Given the description of an element on the screen output the (x, y) to click on. 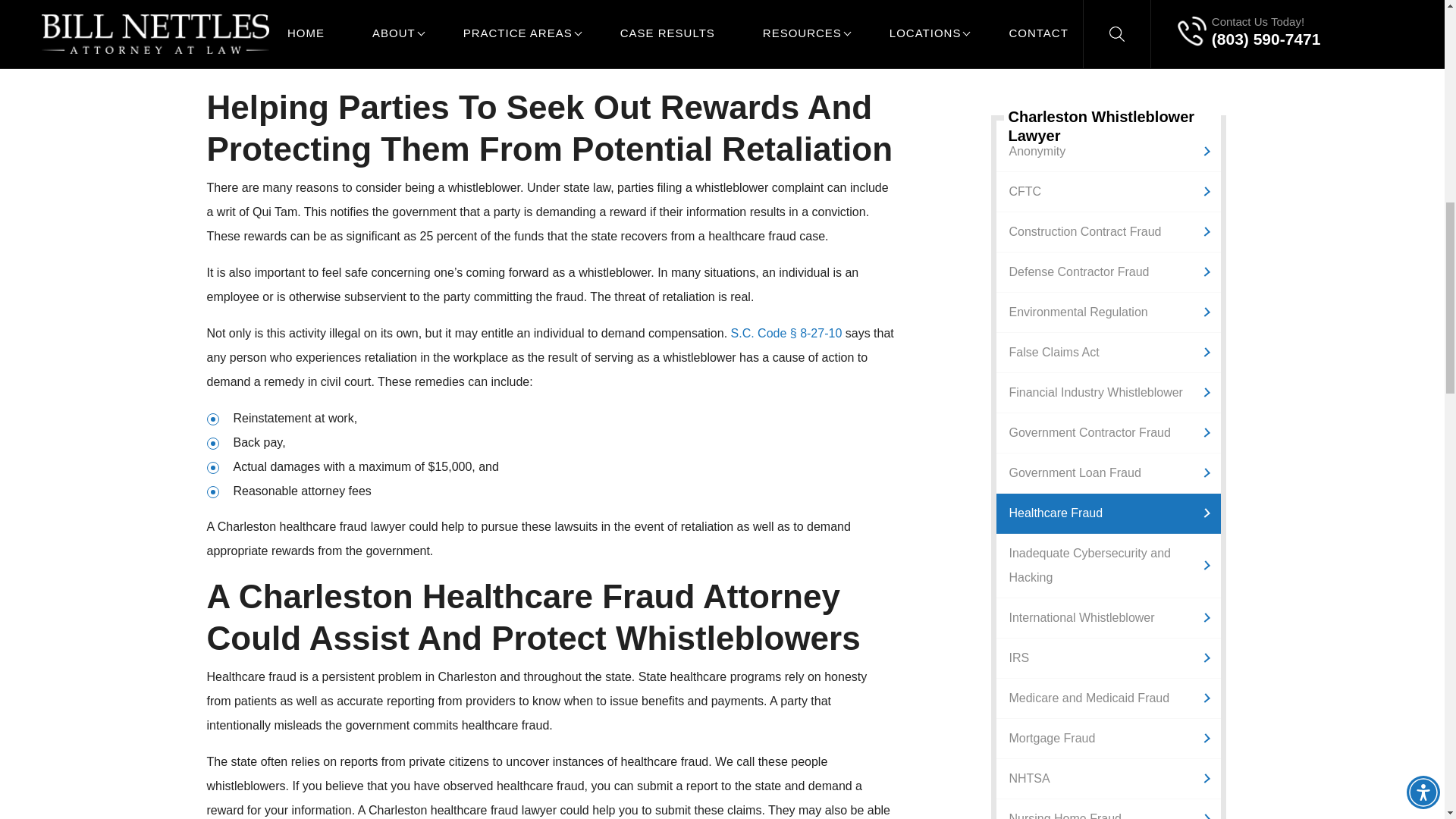
Submit (1108, 1)
